Given the description of an element on the screen output the (x, y) to click on. 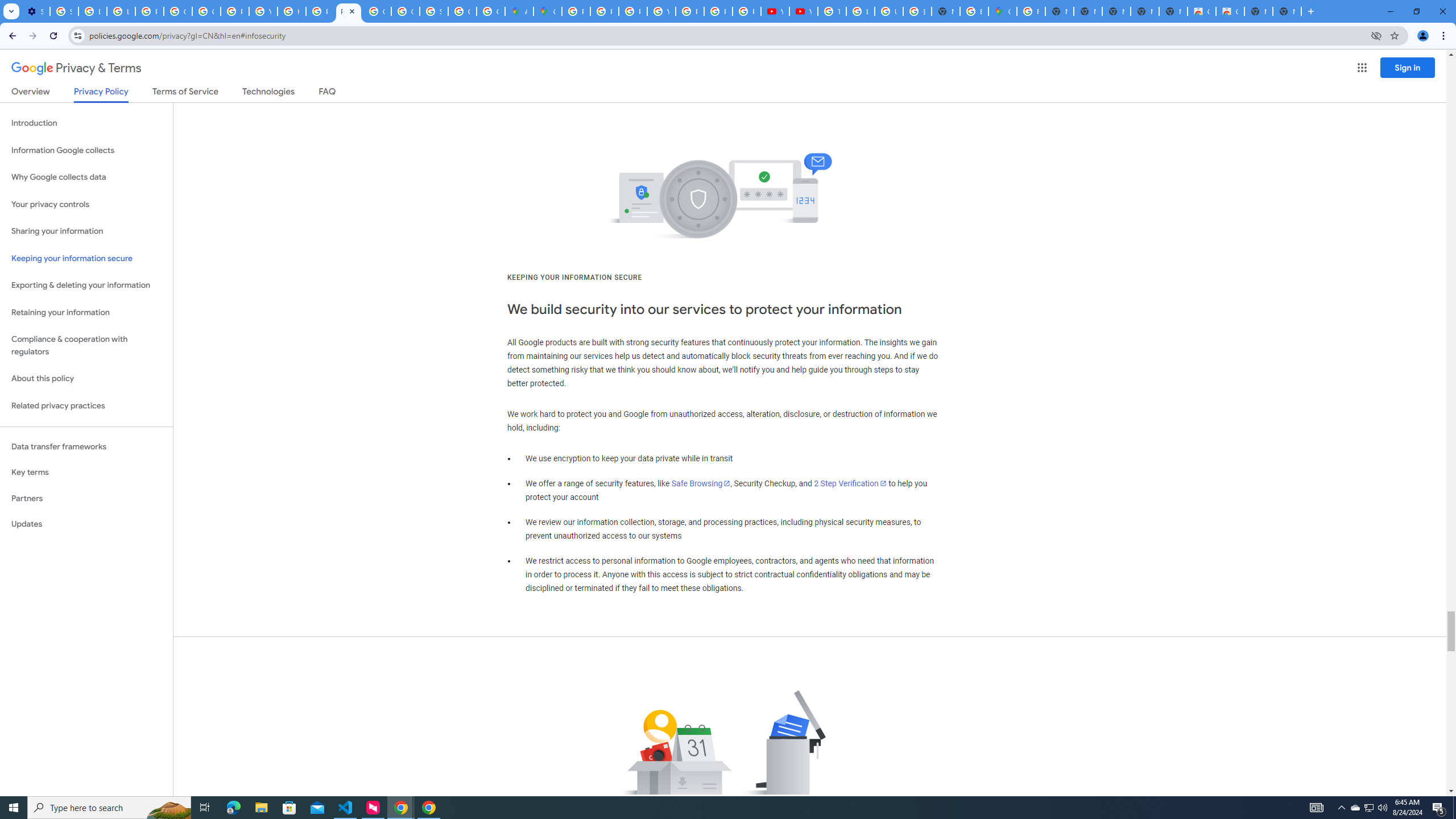
Classic Blue - Chrome Web Store (1201, 11)
Sharing your information (86, 230)
Sign in - Google Accounts (63, 11)
New Tab (1287, 11)
Related privacy practices (86, 405)
Partners (86, 497)
Privacy Checkup (718, 11)
Introduction (86, 122)
